Given the description of an element on the screen output the (x, y) to click on. 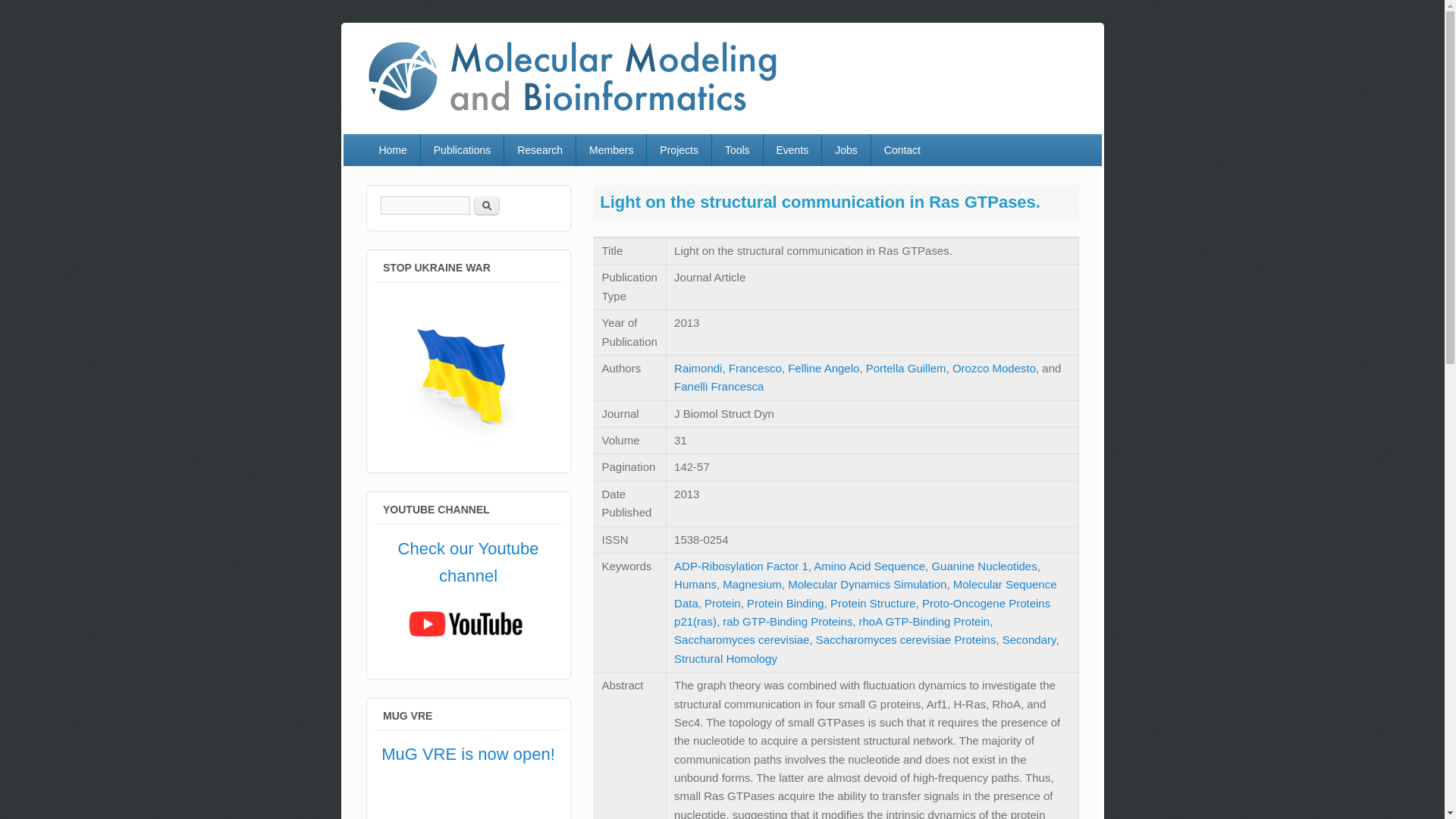
Protein Structure (872, 603)
Protein (722, 603)
Fanelli Francesca (718, 386)
Group developed tools (736, 150)
Enter the terms you wish to search for. (425, 205)
Humans (695, 584)
Orozco Modesto (993, 367)
Saccharomyces cerevisiae (741, 639)
Tools (736, 150)
Home (392, 150)
